Given the description of an element on the screen output the (x, y) to click on. 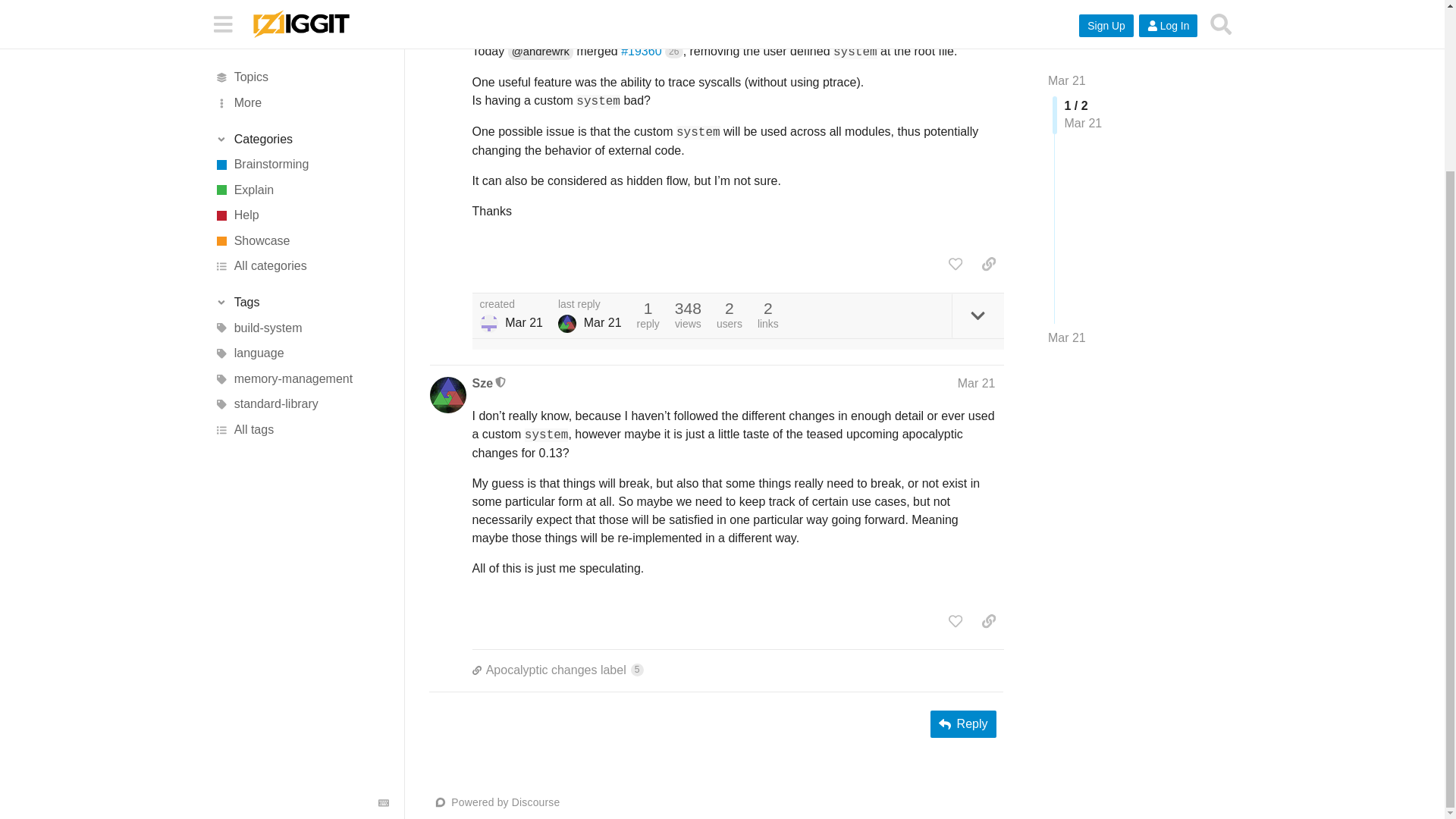
Help (301, 11)
Jump to the last post (1067, 264)
Tags (301, 95)
build-system (301, 121)
mperillo (494, 18)
last reply (589, 304)
All tags (301, 223)
language (301, 147)
Showcase (301, 34)
Keyboard Shortcuts (384, 597)
memory-management (301, 172)
Mar 21 (1067, 7)
Mar 21 (976, 18)
Jump to the first post (1067, 7)
